Given the description of an element on the screen output the (x, y) to click on. 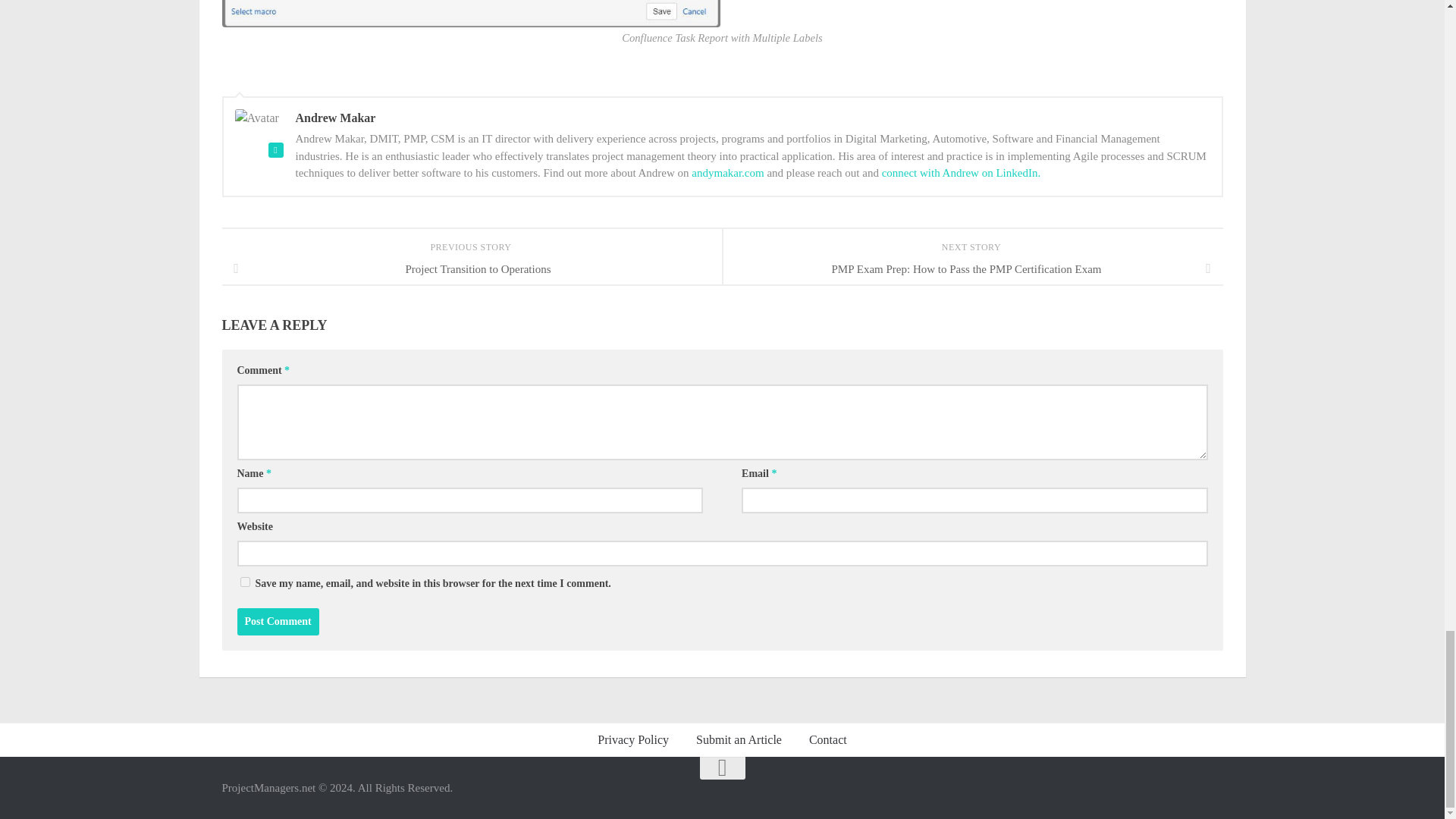
Submit an Article (738, 739)
PMP Exam Prep: How to Pass the PMP Certification Exam (972, 268)
yes (244, 582)
Privacy Policy (632, 739)
Contact (827, 739)
connect with Andrew on LinkedIn. (961, 173)
Project Transition to Operations (471, 268)
andymakar.com (726, 173)
Post Comment (276, 621)
Post Comment (276, 621)
